Given the description of an element on the screen output the (x, y) to click on. 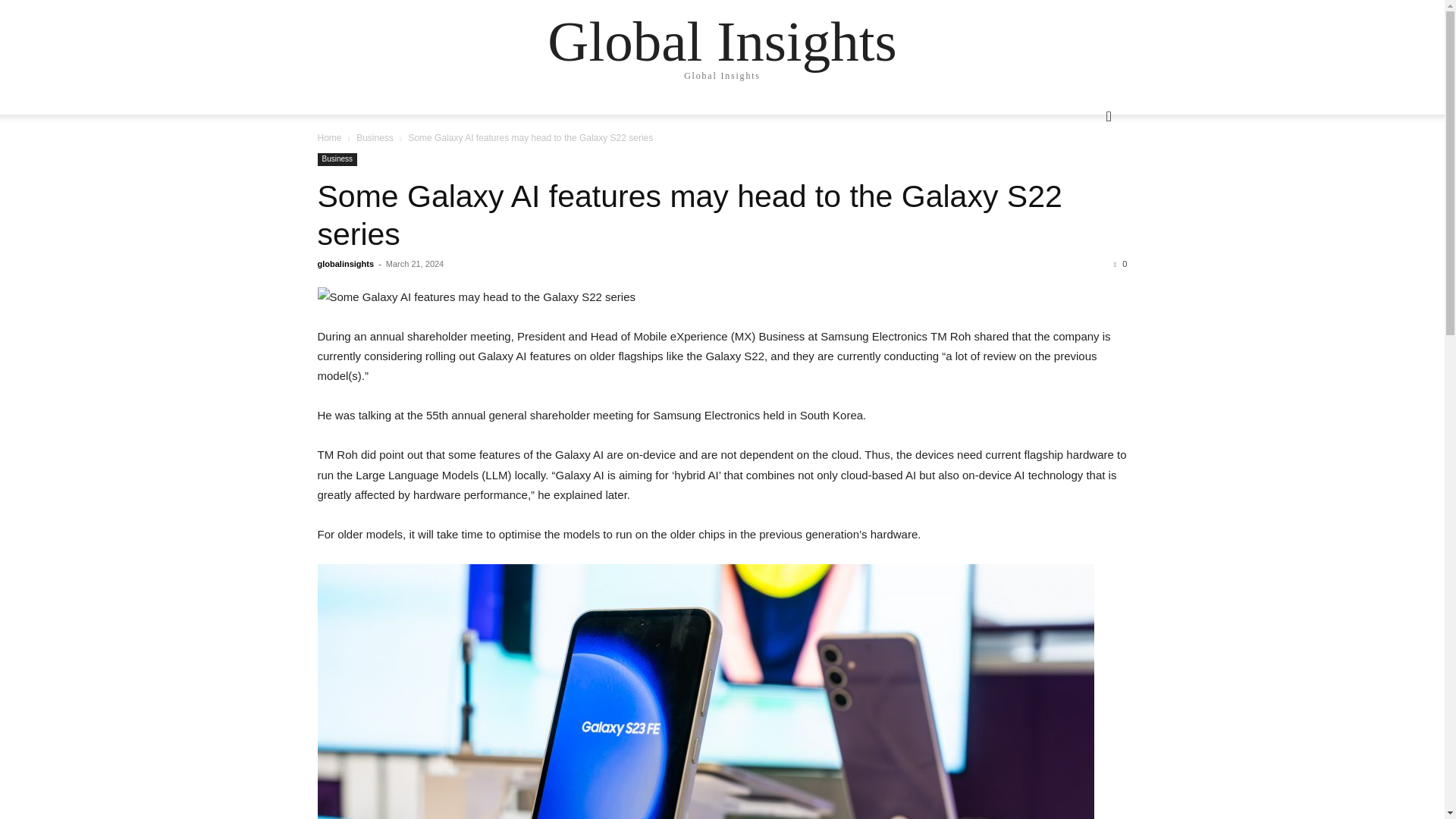
Home (328, 137)
View all posts in Business (374, 137)
0 (1119, 263)
Search (1085, 177)
Business (374, 137)
Business (336, 159)
Some Galaxy AI features may head to the Galaxy S22 series (721, 297)
globalinsights (345, 263)
Some Galaxy AI features may head to the Galaxy S22 series (689, 215)
Some Galaxy AI features may head to the Galaxy S22 series (689, 215)
Global Insights (721, 41)
